Given the description of an element on the screen output the (x, y) to click on. 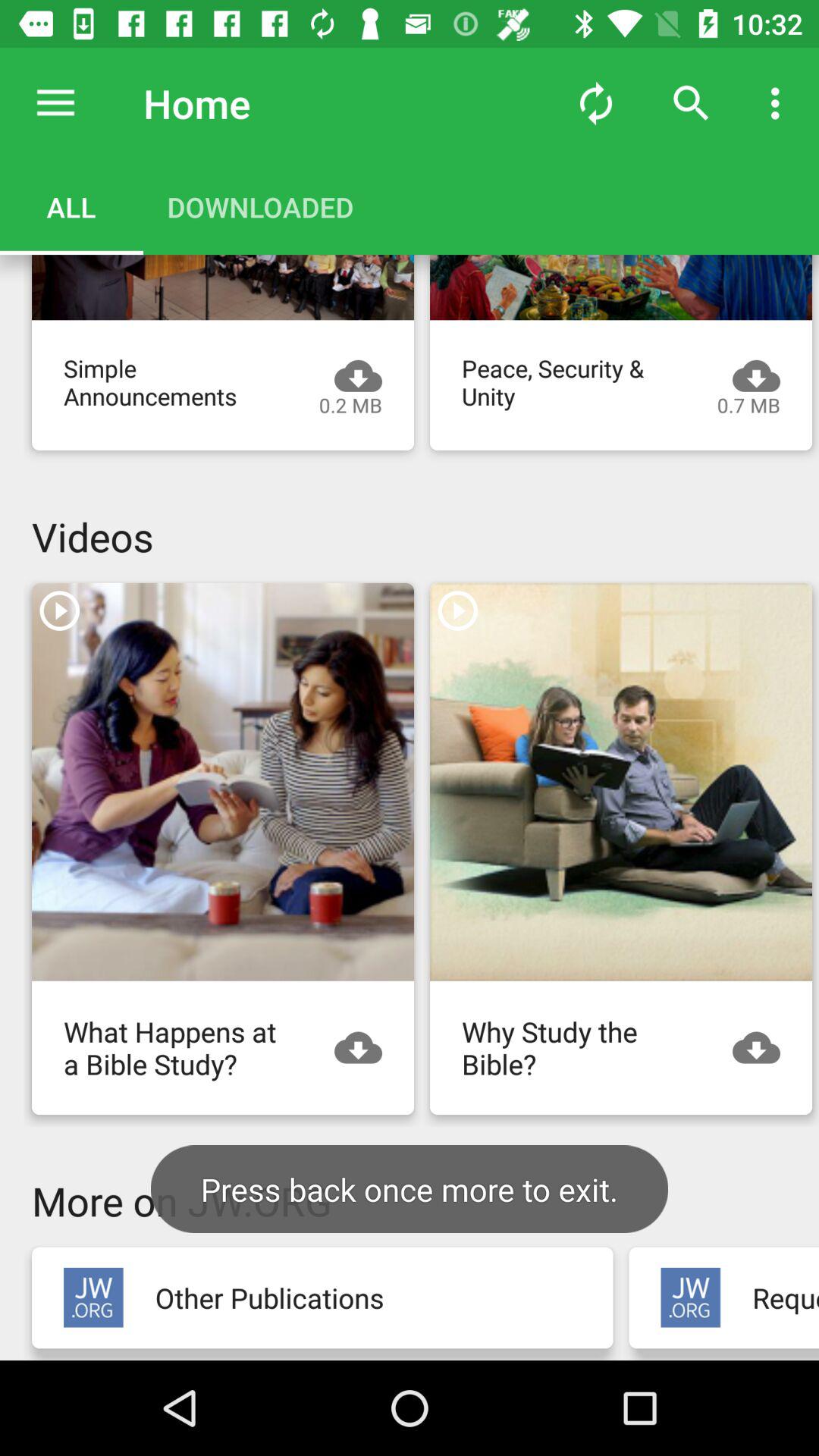
download (366, 1047)
